Given the description of an element on the screen output the (x, y) to click on. 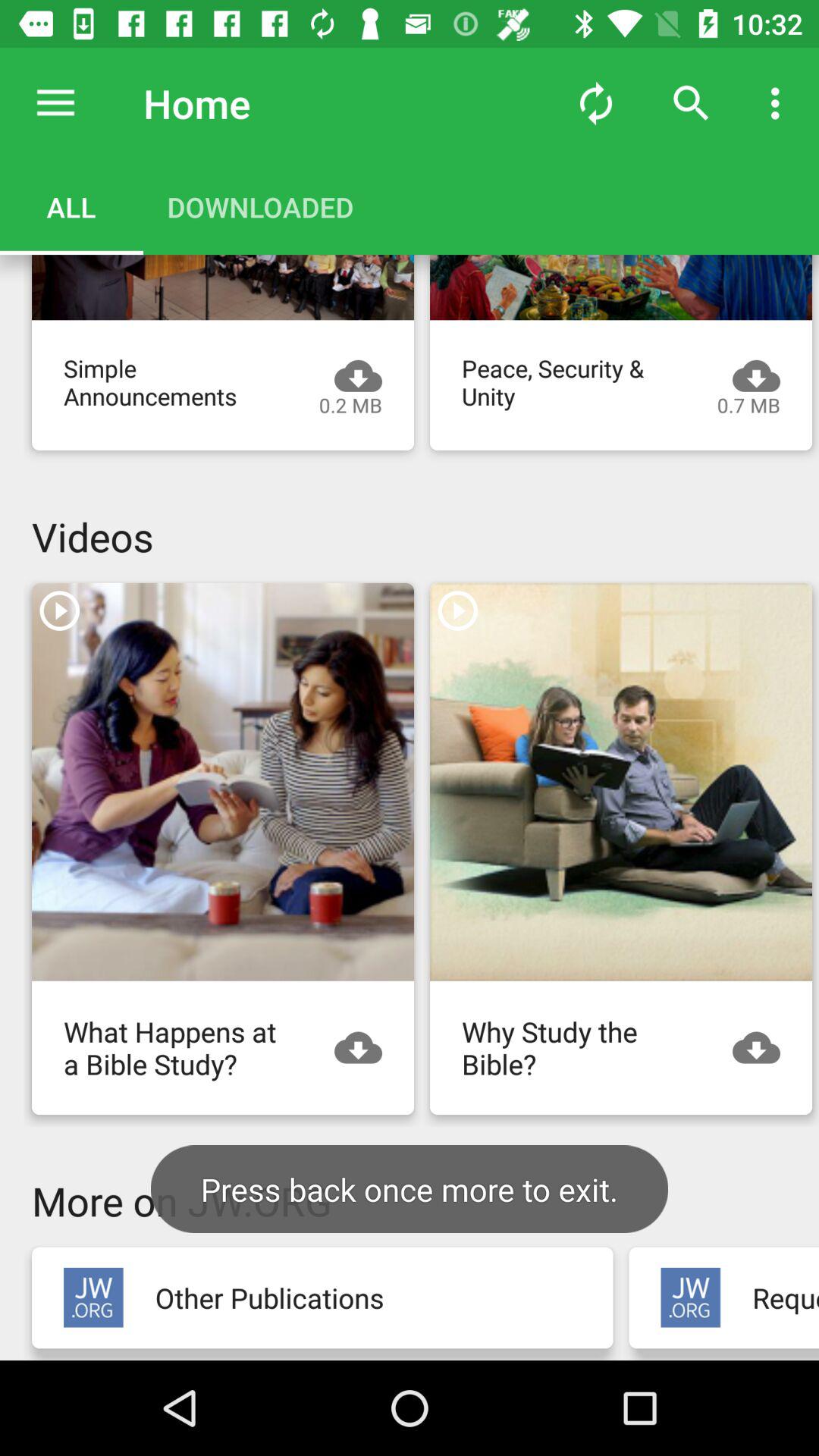
download (366, 1047)
